Given the description of an element on the screen output the (x, y) to click on. 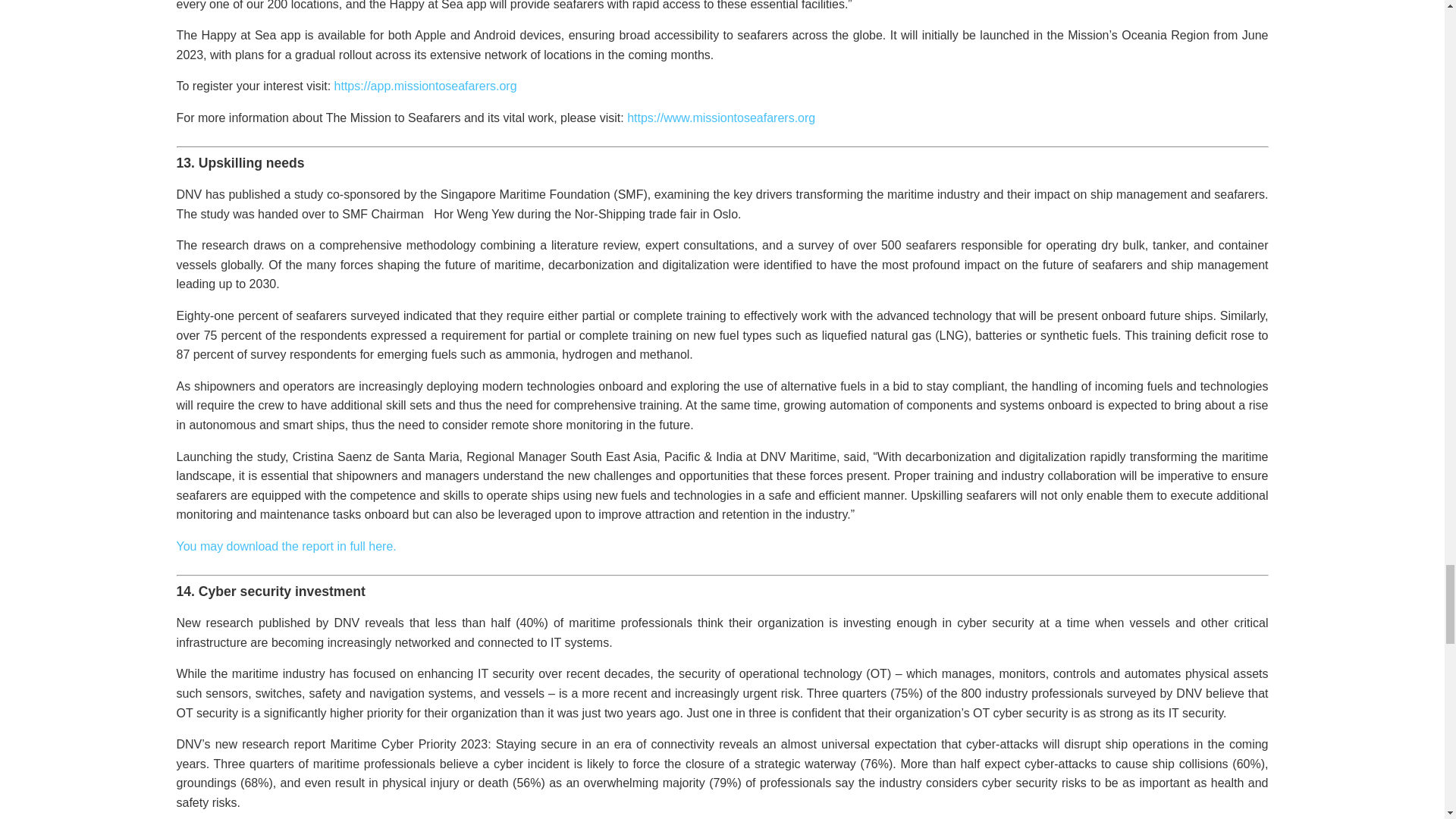
You may download the report in full here. (286, 545)
